Given the description of an element on the screen output the (x, y) to click on. 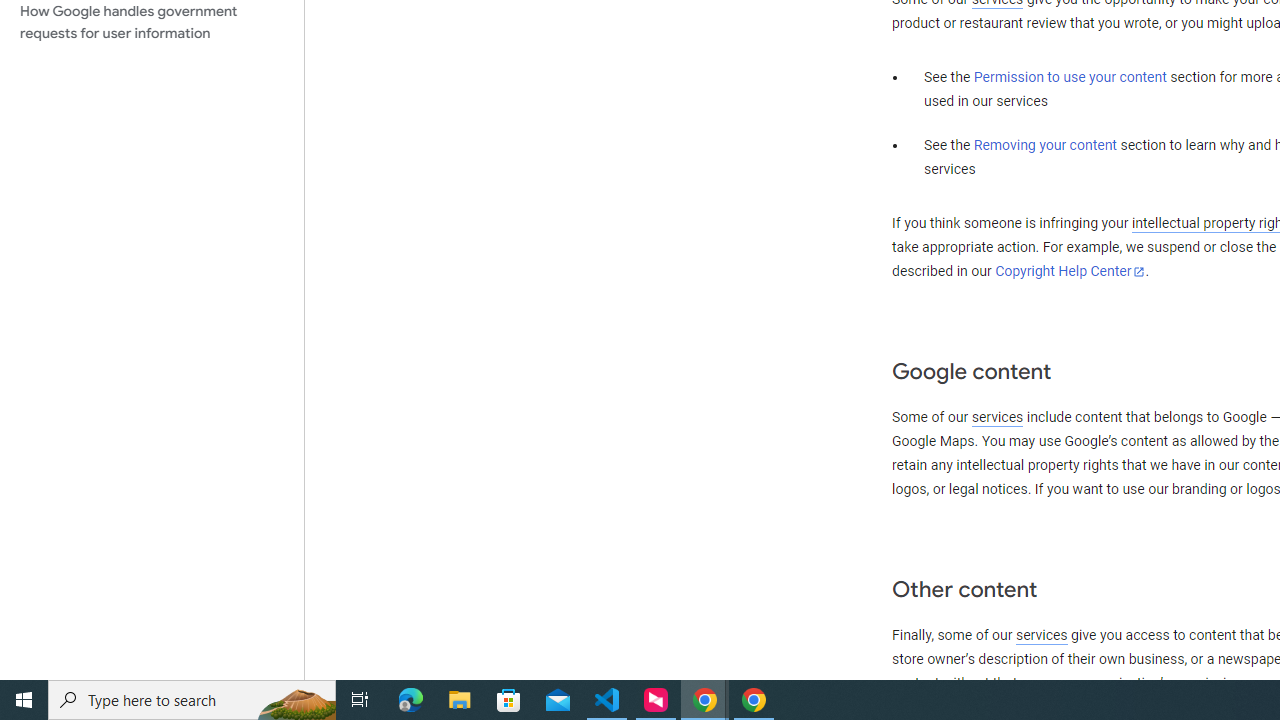
Copyright Help Center (1069, 271)
Permission to use your content (1069, 78)
Removing your content (1044, 145)
services (1041, 635)
